Given the description of an element on the screen output the (x, y) to click on. 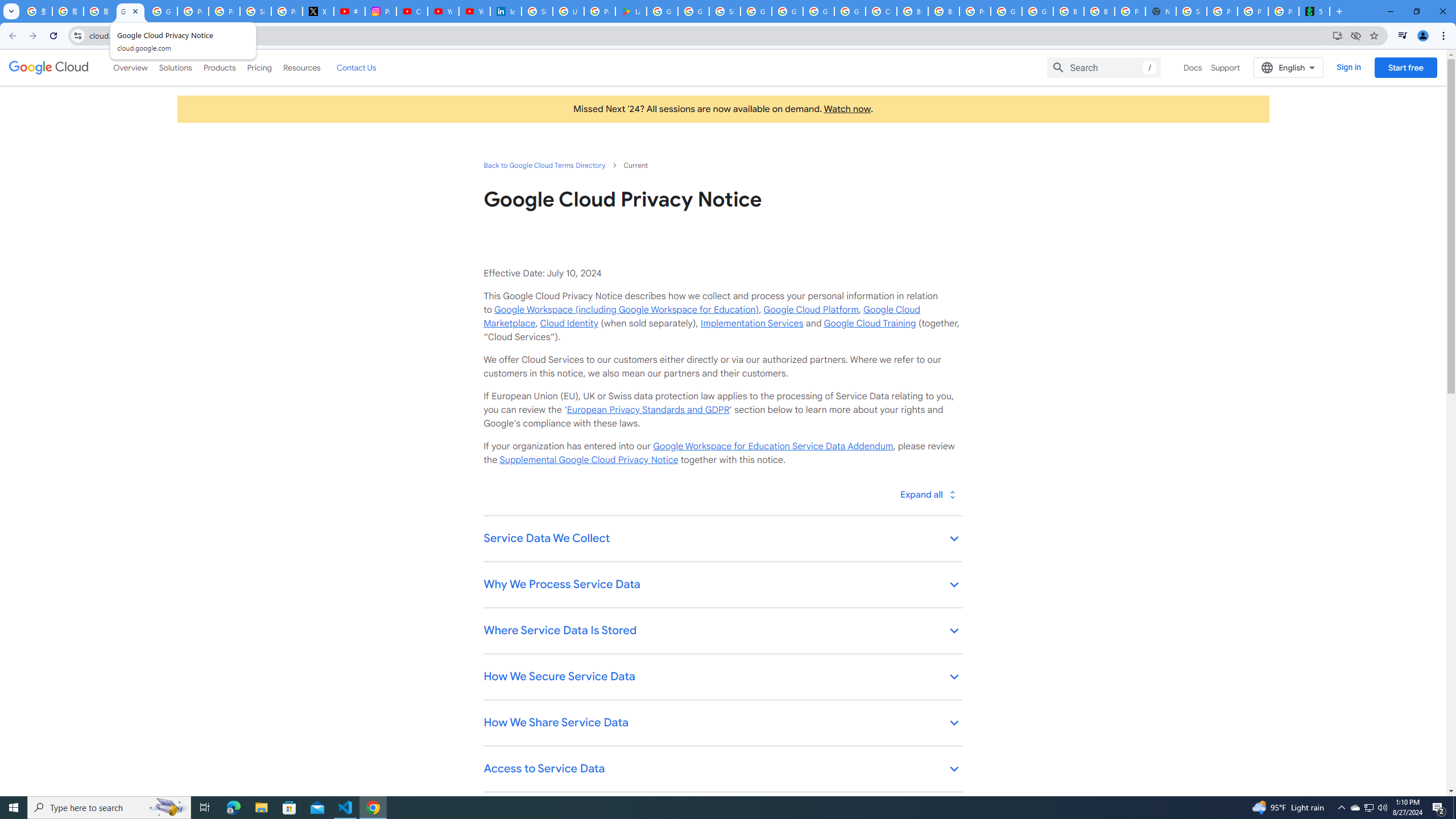
Cloud Identity (569, 323)
Watch now (847, 108)
Support (1225, 67)
Google Cloud Privacy Notice (130, 11)
Docs (1192, 67)
Sign in - Google Accounts (536, 11)
Products (218, 67)
Pricing (259, 67)
